Given the description of an element on the screen output the (x, y) to click on. 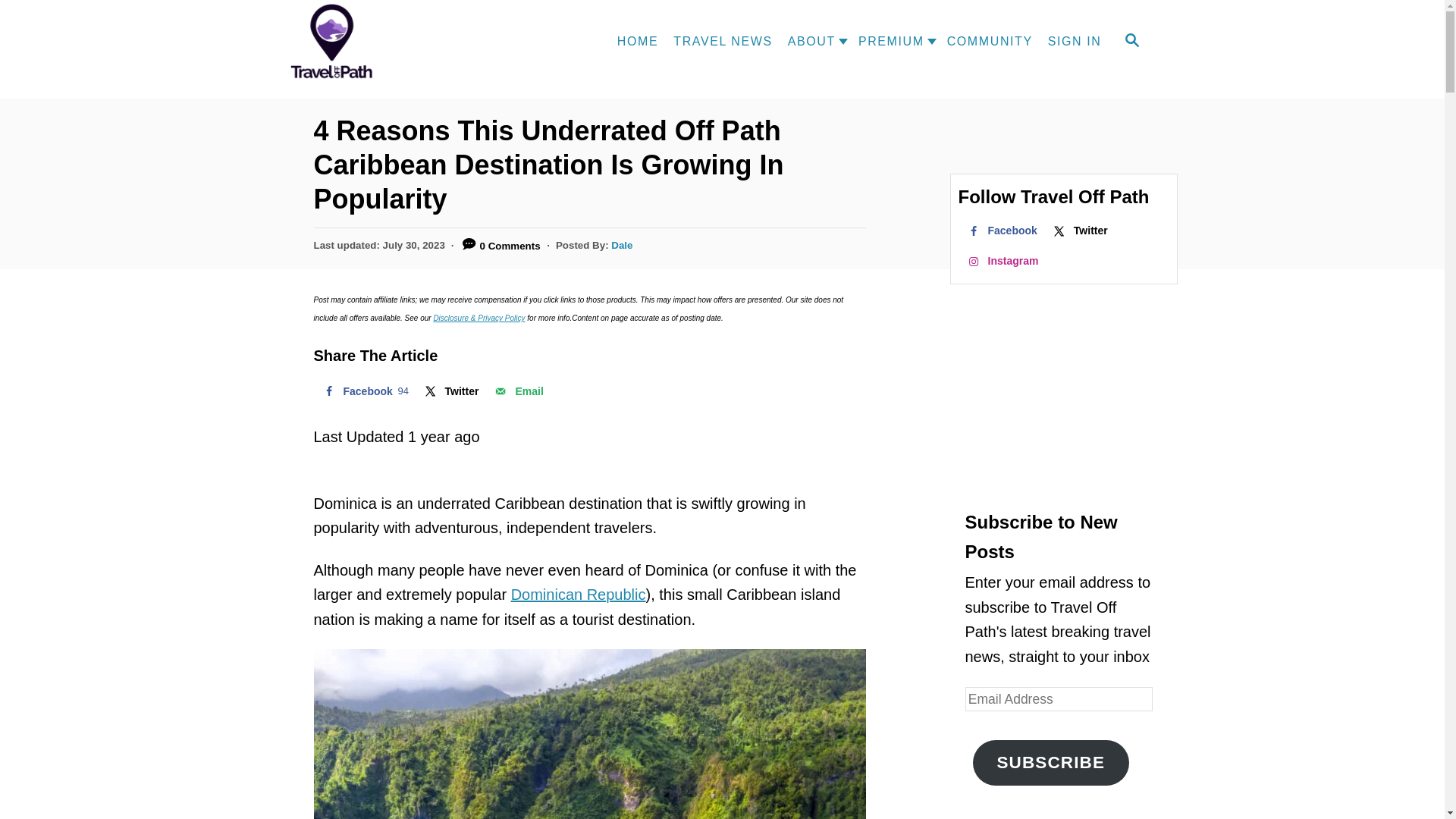
Travel Off Path (345, 41)
Send over email (517, 390)
Share on Facebook (364, 390)
SEARCH (364, 390)
Follow on Facebook (1131, 40)
PREMIUM (1000, 230)
SIGN IN (887, 41)
Follow on X (1075, 41)
ABOUT (1079, 230)
